Given the description of an element on the screen output the (x, y) to click on. 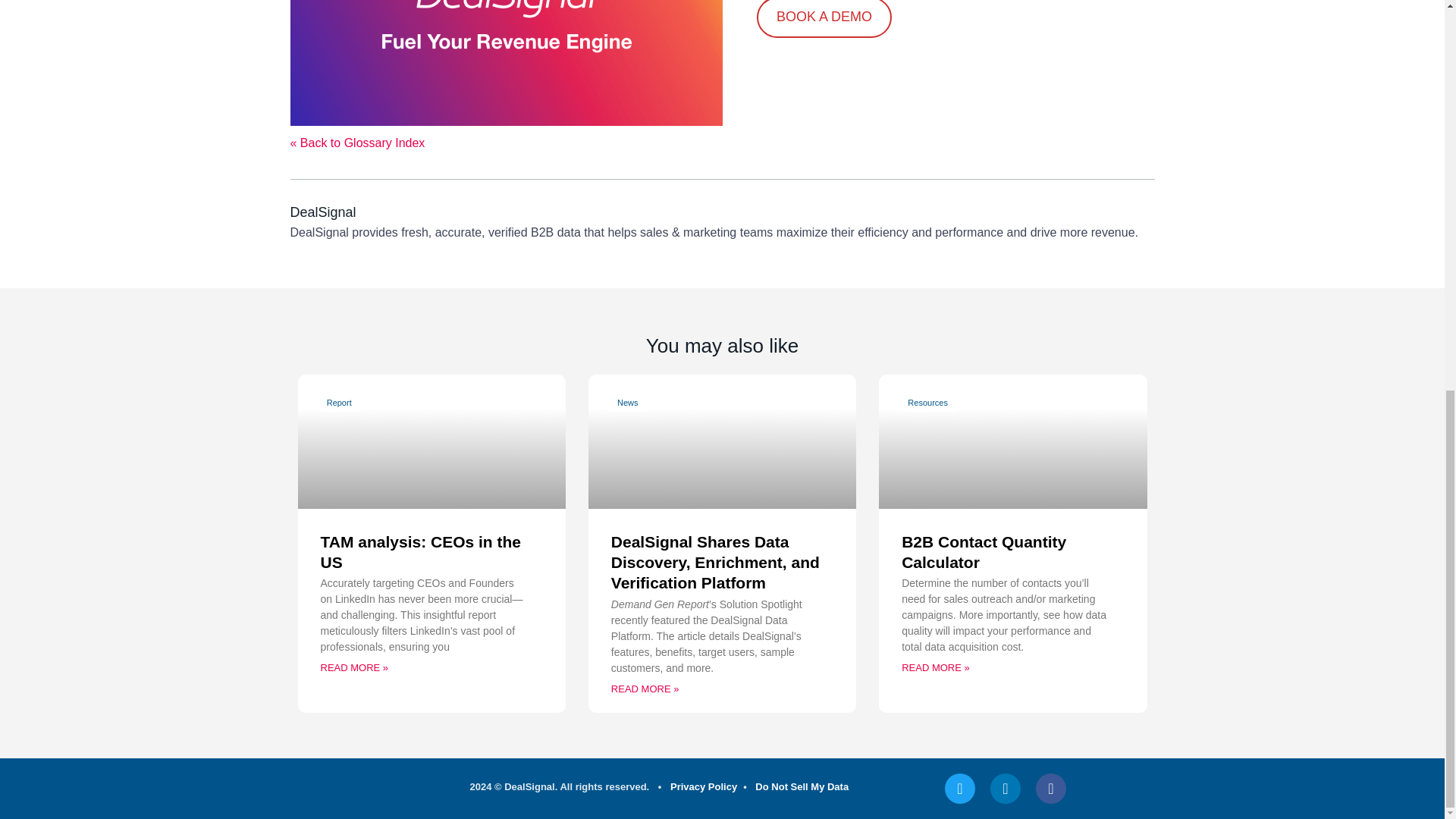
BOOK A DEMO (824, 18)
Do Not Sell My Data (801, 786)
TAM analysis: CEOs in the US (420, 551)
Privacy Policy (702, 786)
B2B Contact Quantity Calculator (983, 551)
